Given the description of an element on the screen output the (x, y) to click on. 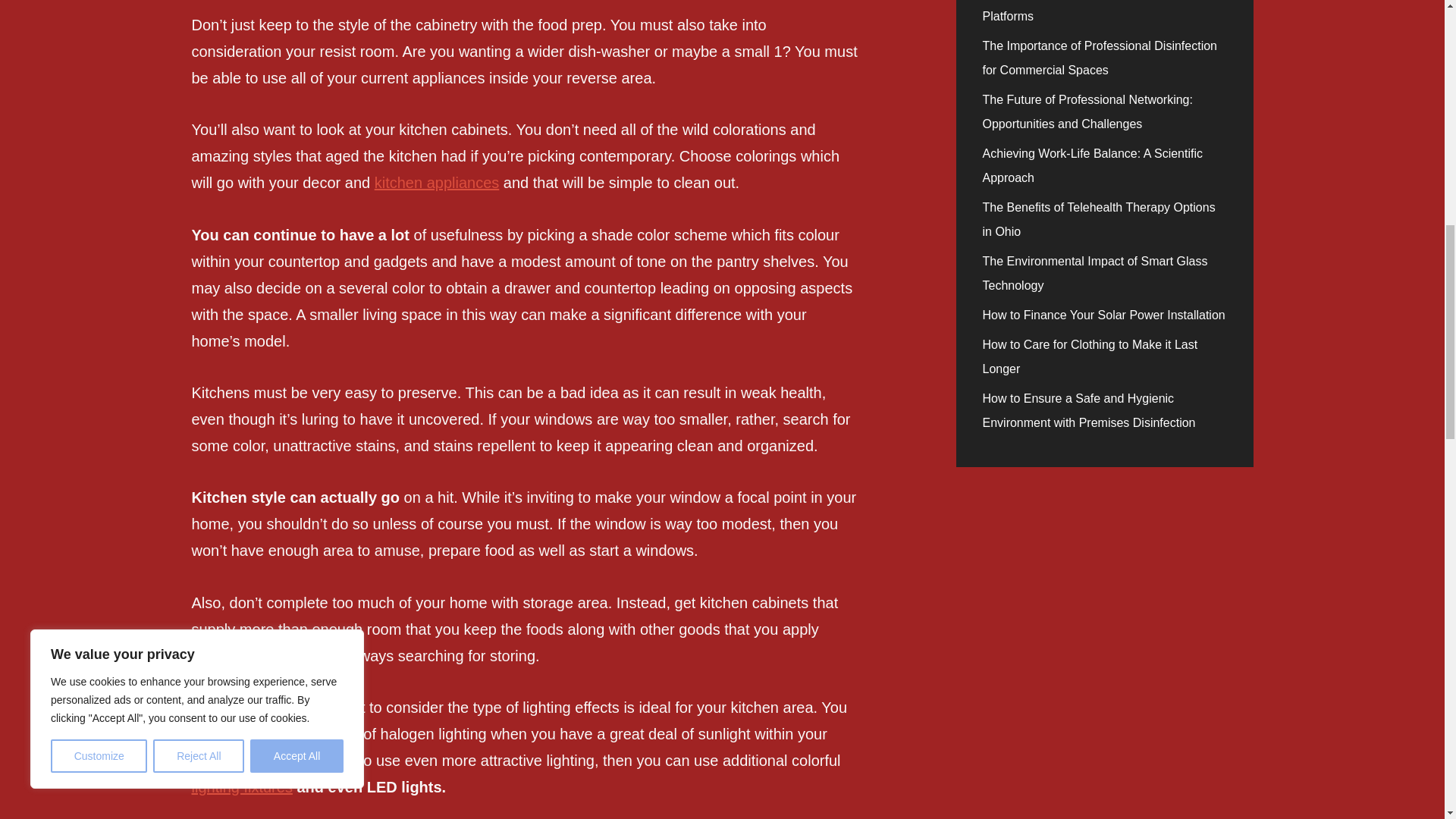
lighting fixtures (241, 786)
kitchen appliances (436, 182)
